Given the description of an element on the screen output the (x, y) to click on. 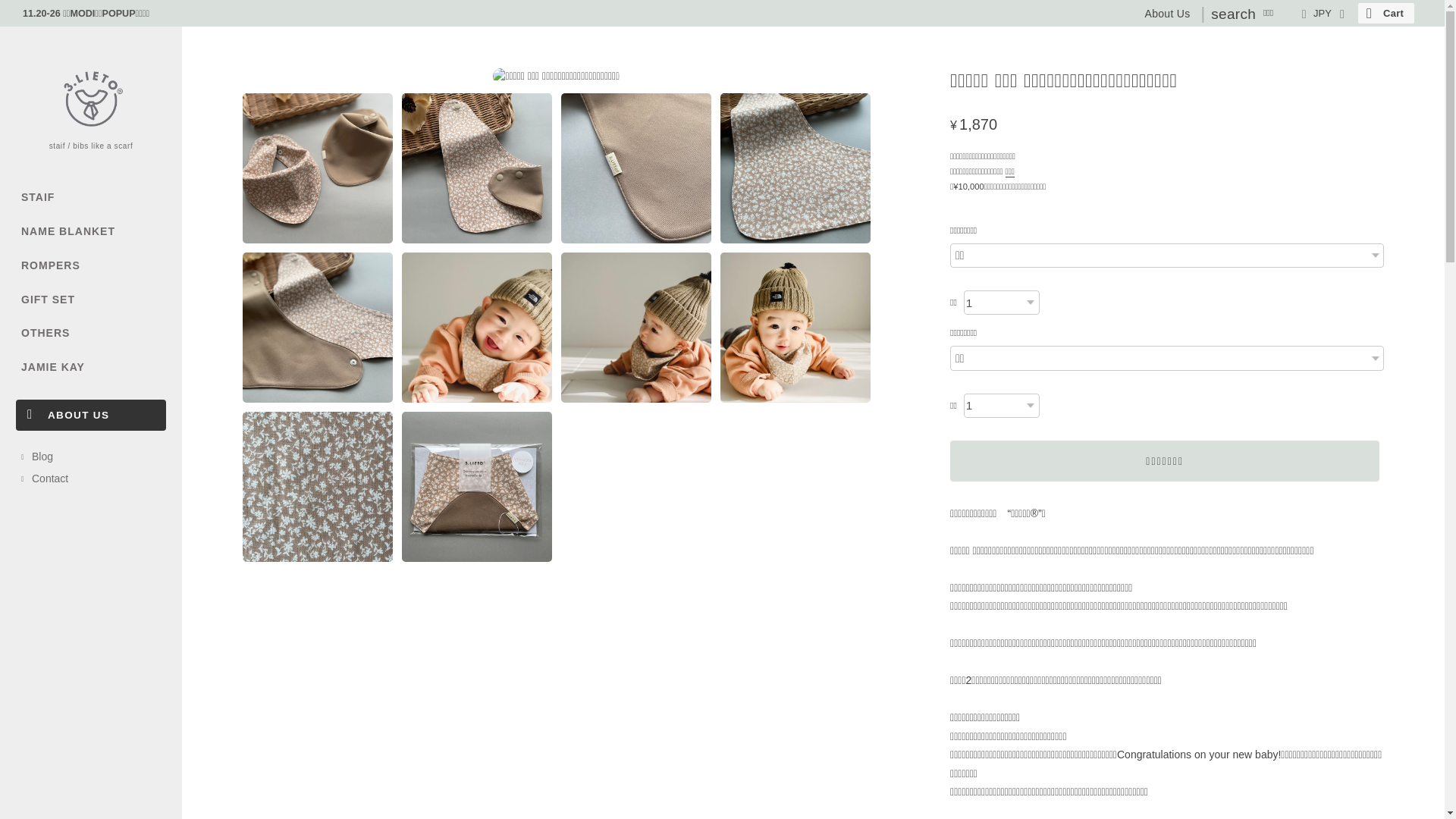
OTHERS Element type: text (91, 333)
ROMPERS Element type: text (91, 265)
JAMIE KAY Element type: text (91, 367)
Blog Element type: text (93, 456)
ABOUT US Element type: text (90, 414)
GIFT SET Element type: text (91, 299)
About Us Element type: text (1167, 13)
search Element type: text (1233, 13)
NAME BLANKET Element type: text (91, 231)
STAIF Element type: text (91, 197)
Contact Element type: text (93, 478)
